Given the description of an element on the screen output the (x, y) to click on. 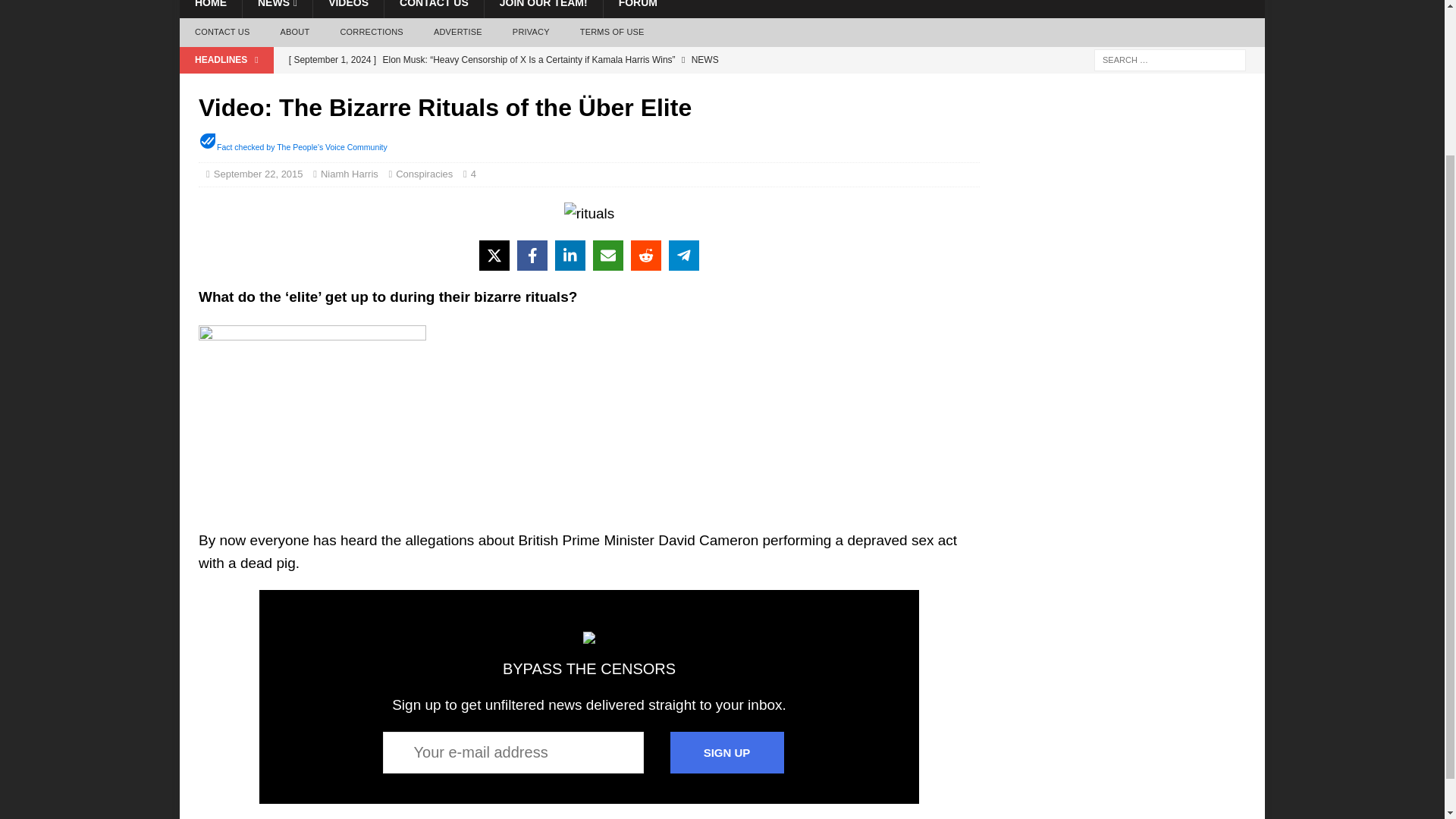
SIGN UP (726, 752)
FORUM (637, 9)
CORRECTIONS (370, 32)
Conspiracies (424, 173)
CONTACT US (221, 32)
CONTACT US (433, 9)
JOIN OUR TEAM! (542, 9)
PRIVACY (530, 32)
Niamh Harris (349, 173)
rituals Skull-Bones (589, 213)
